Given the description of an element on the screen output the (x, y) to click on. 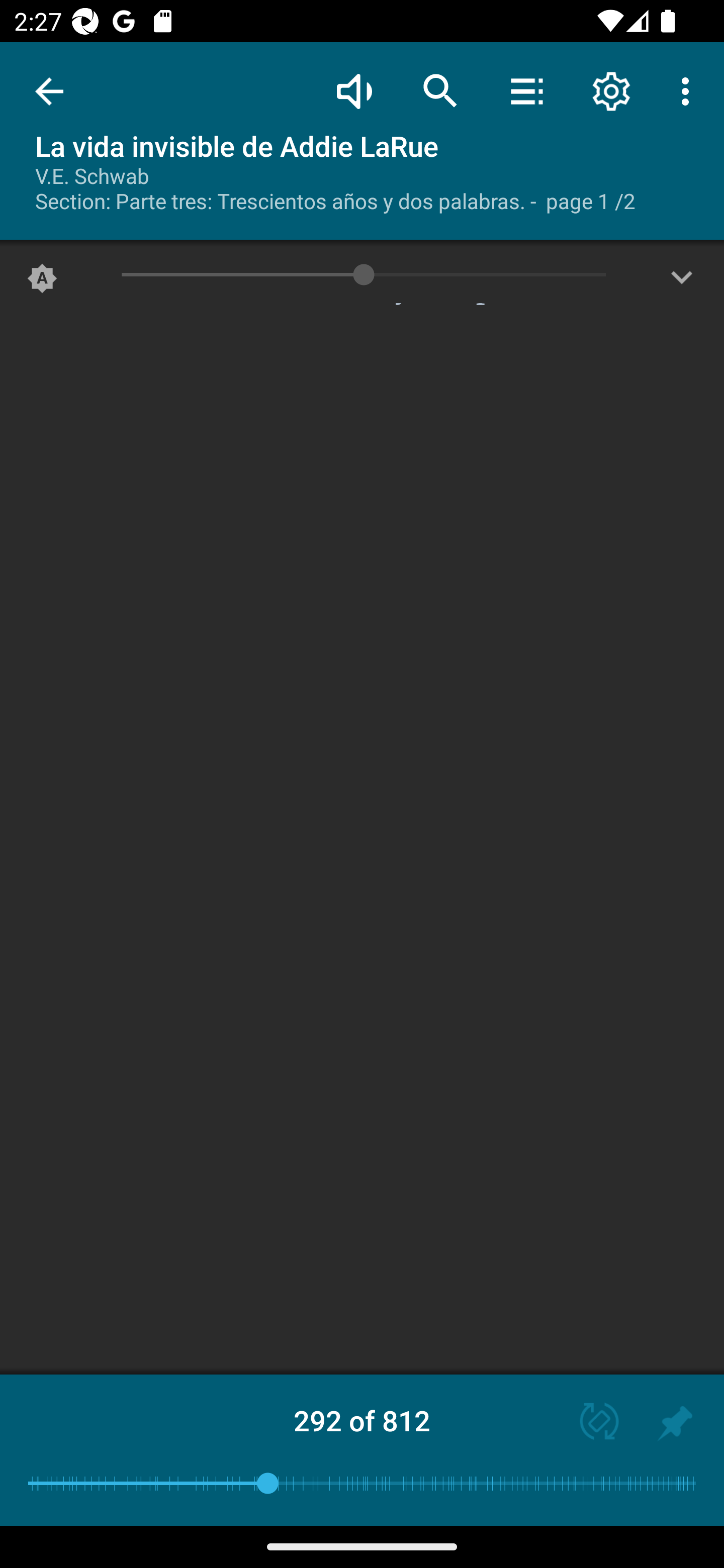
Exit reading (49, 91)
Read aloud (354, 90)
Text search (440, 90)
Contents / Bookmarks / Quotes (526, 90)
Reading settings (611, 90)
More options (688, 90)
Selected screen brightness (42, 281)
Screen brightness settings (681, 281)
292 of 812 (361, 1420)
Screen orientation (590, 1423)
Add to history (674, 1423)
